Given the description of an element on the screen output the (x, y) to click on. 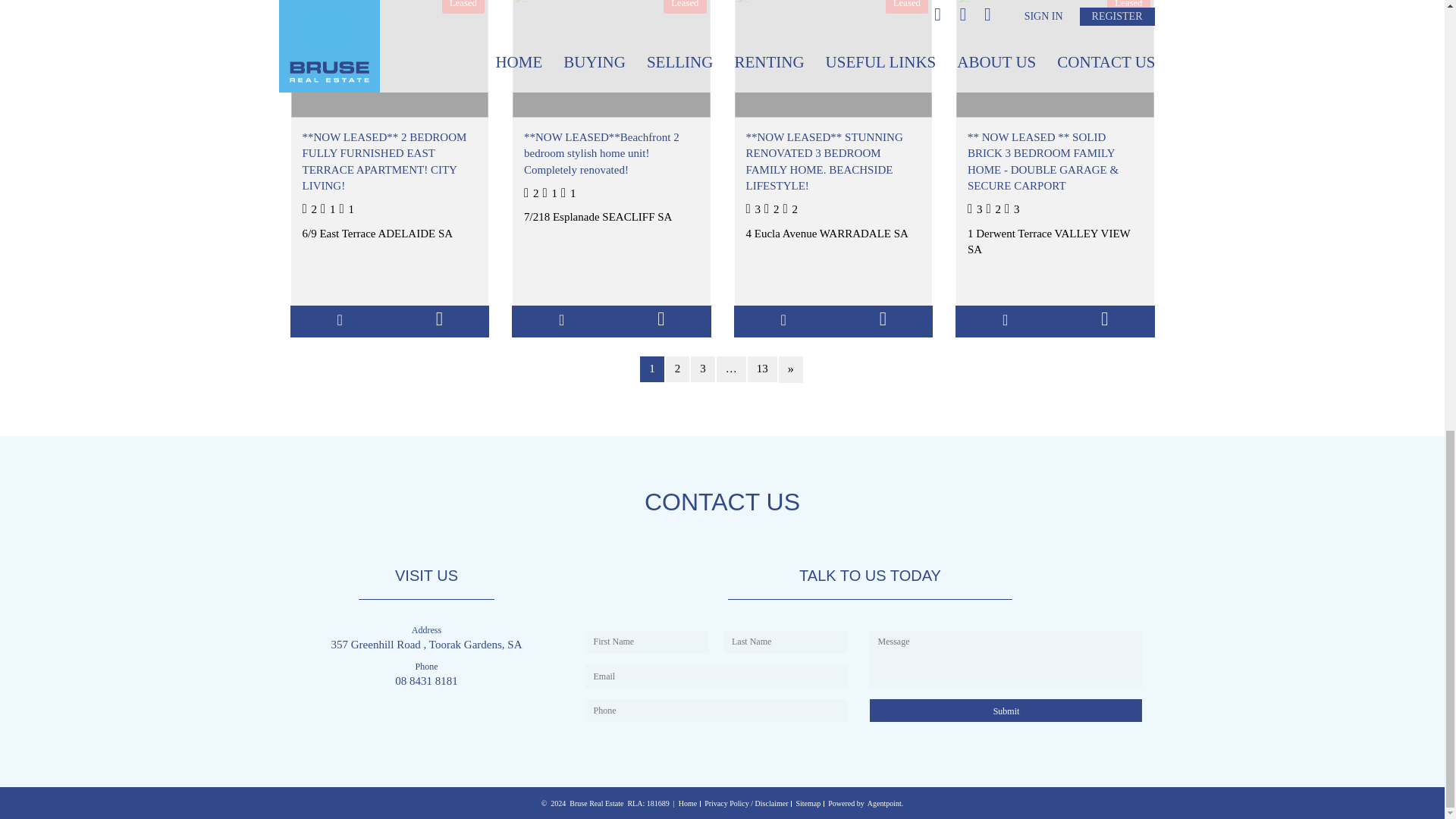
Contact Agent (1104, 320)
Contact Agent (438, 320)
Add Favourites (339, 320)
Contact Agent (660, 320)
Add Favourites (782, 320)
Add Favourites (561, 320)
Contact Agent (882, 320)
Submit (1005, 710)
Add Favourites (1005, 320)
Leased (390, 58)
